Given the description of an element on the screen output the (x, y) to click on. 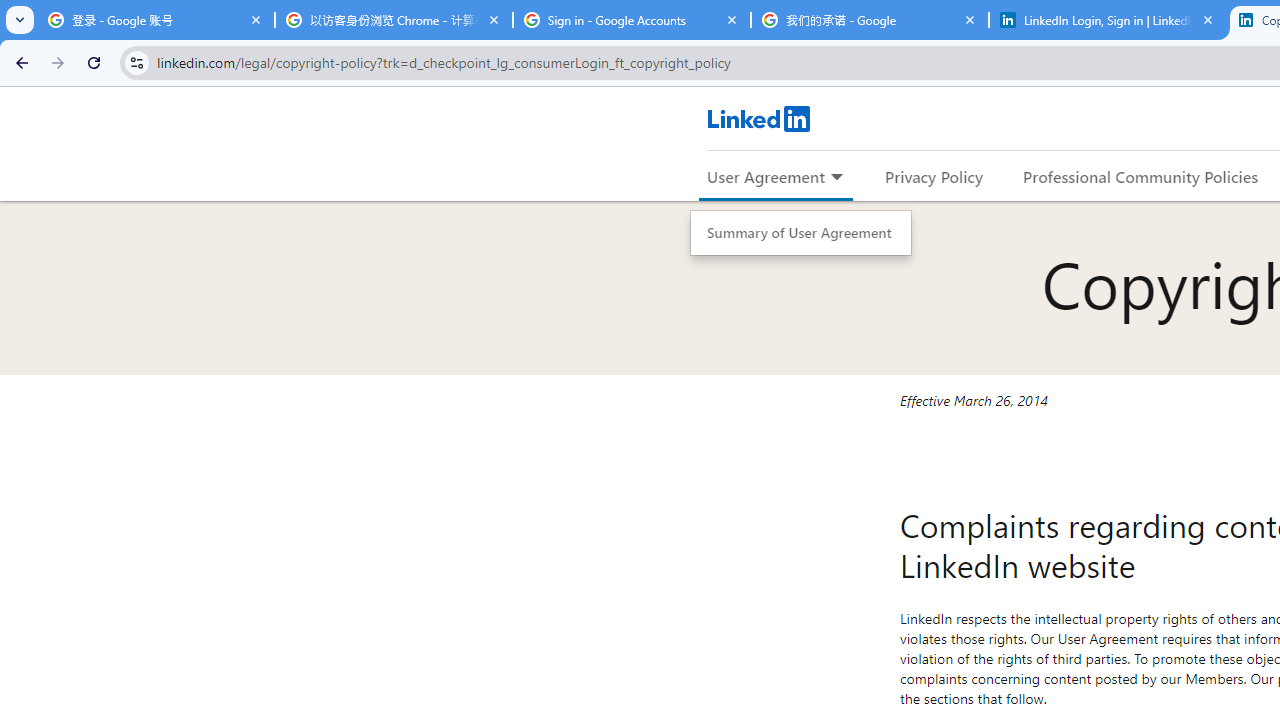
Sign in - Google Accounts (632, 20)
Summary of User Agreement (800, 233)
Privacy Policy (934, 176)
